Given the description of an element on the screen output the (x, y) to click on. 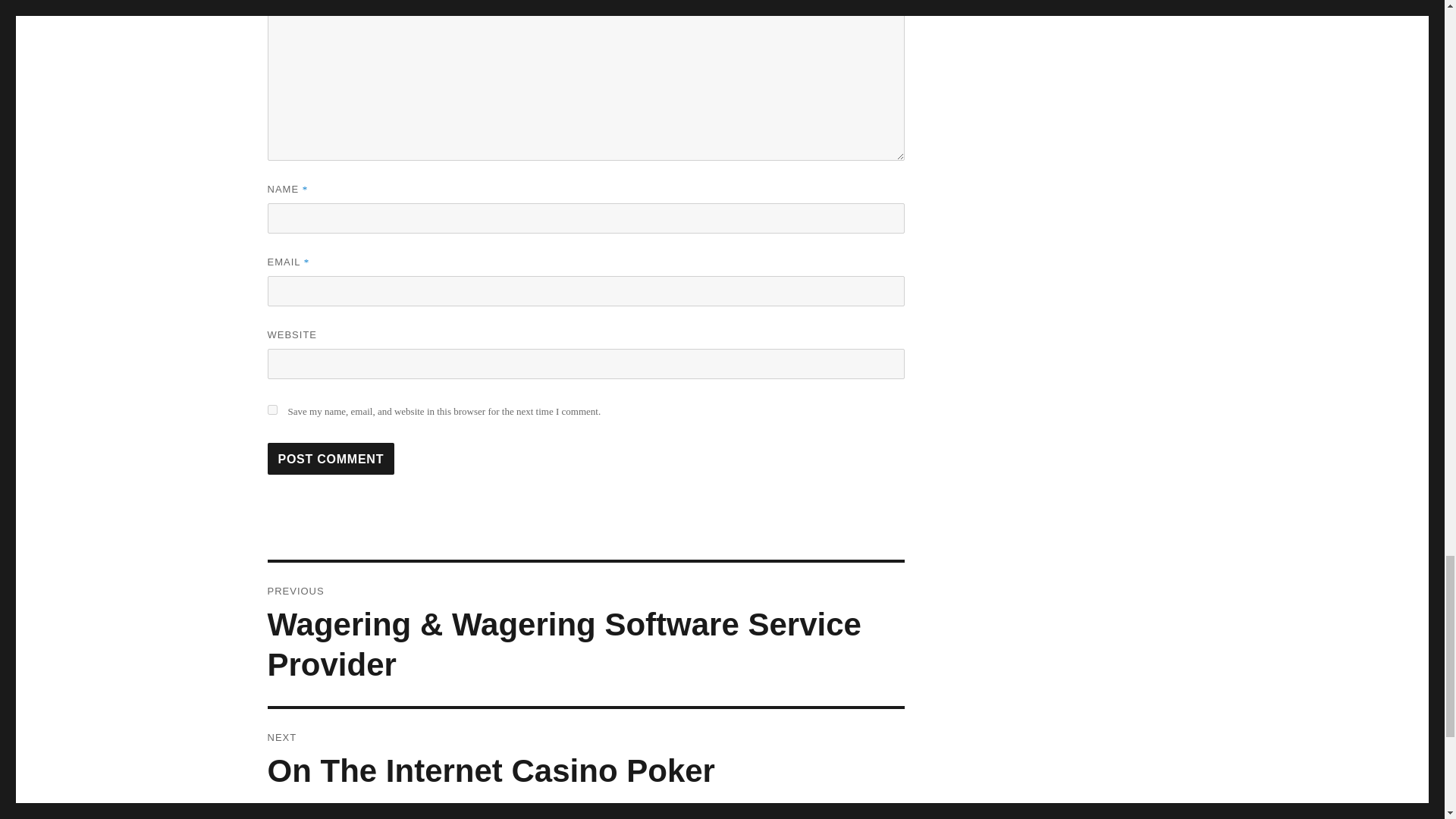
yes (271, 409)
Post Comment (585, 760)
Post Comment (330, 459)
